Given the description of an element on the screen output the (x, y) to click on. 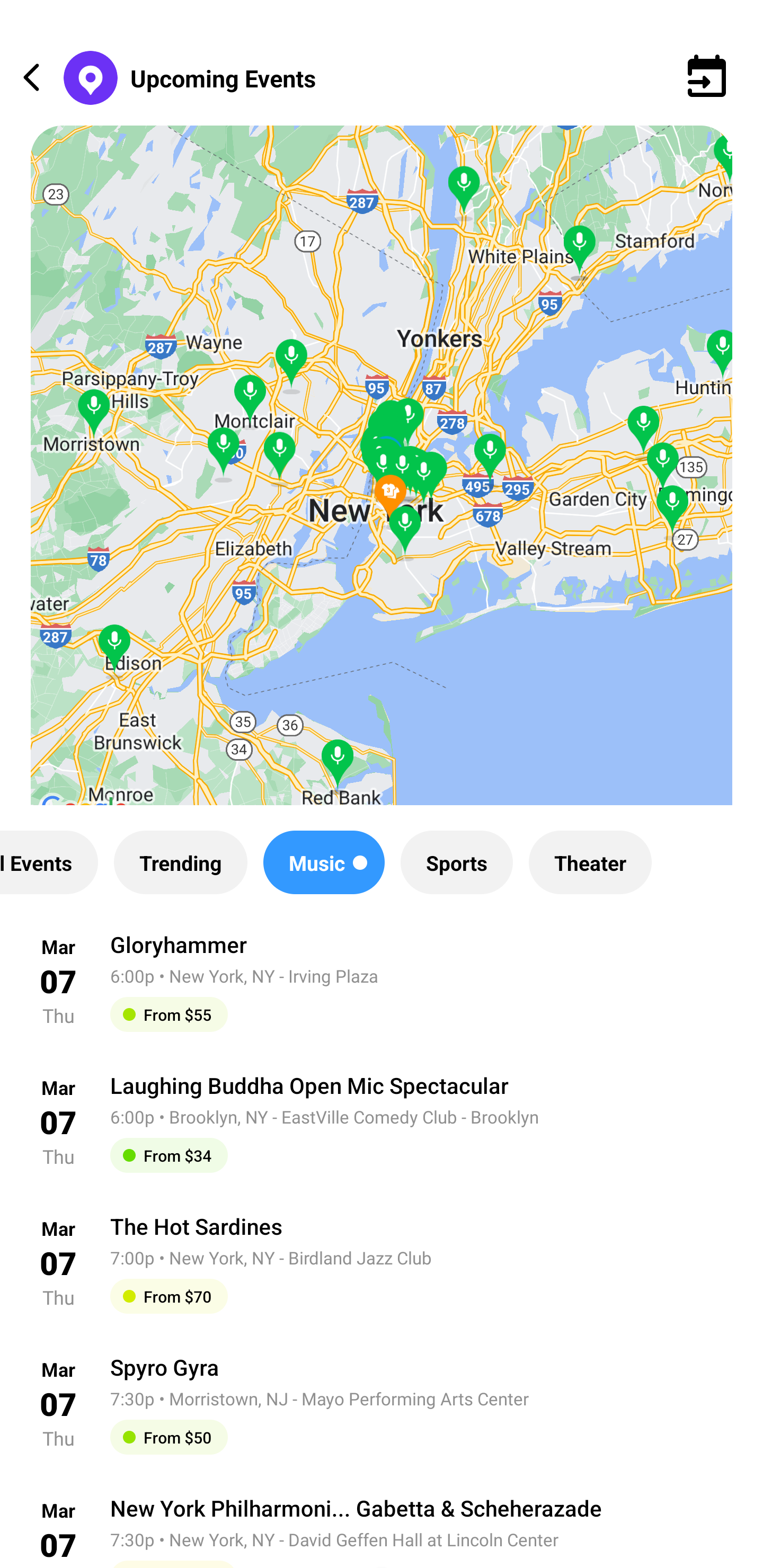
Trending (180, 862)
Music (323, 862)
Sports (456, 862)
Theater (589, 862)
